Given the description of an element on the screen output the (x, y) to click on. 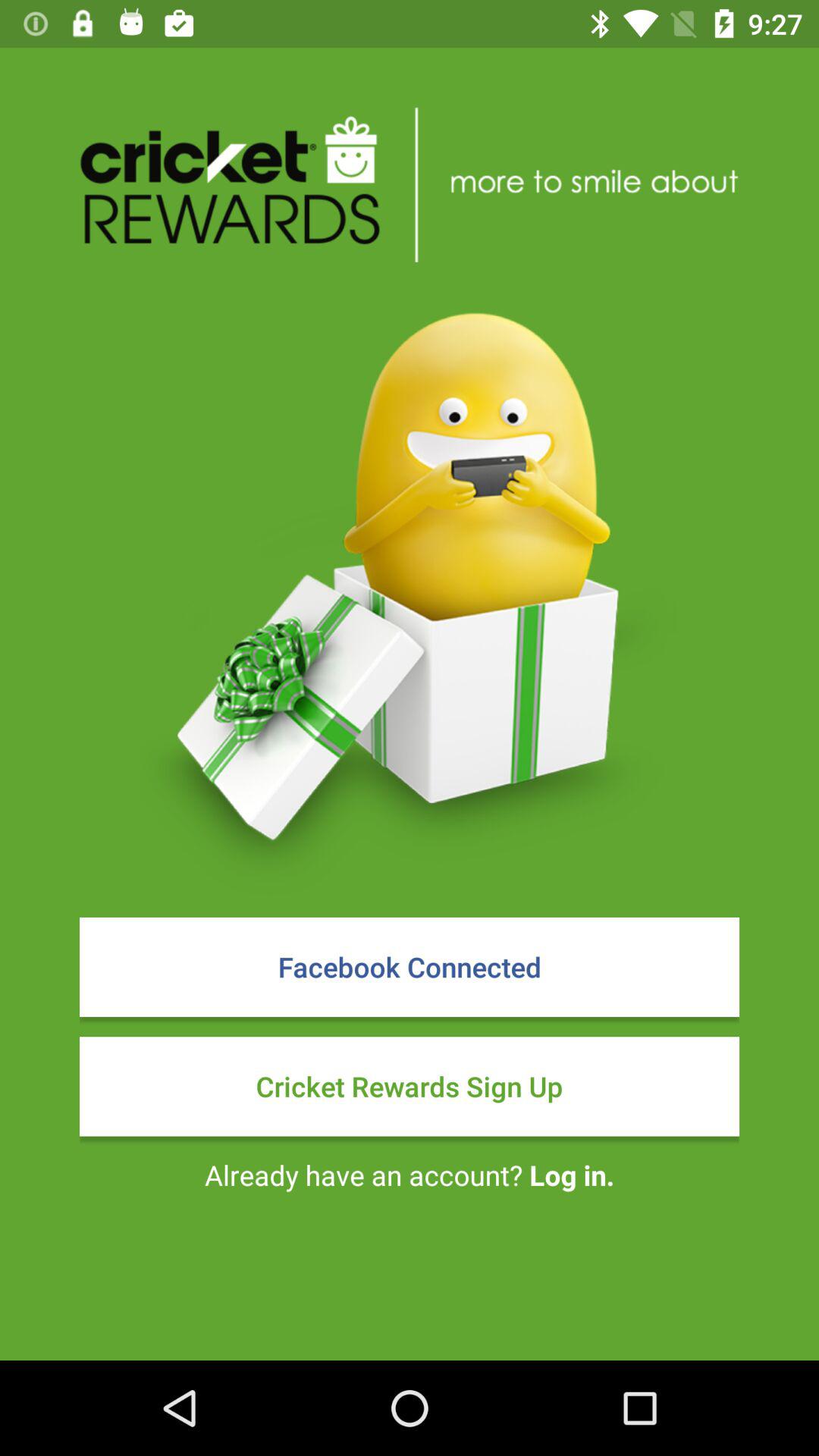
choose icon below cricket rewards sign (409, 1174)
